Given the description of an element on the screen output the (x, y) to click on. 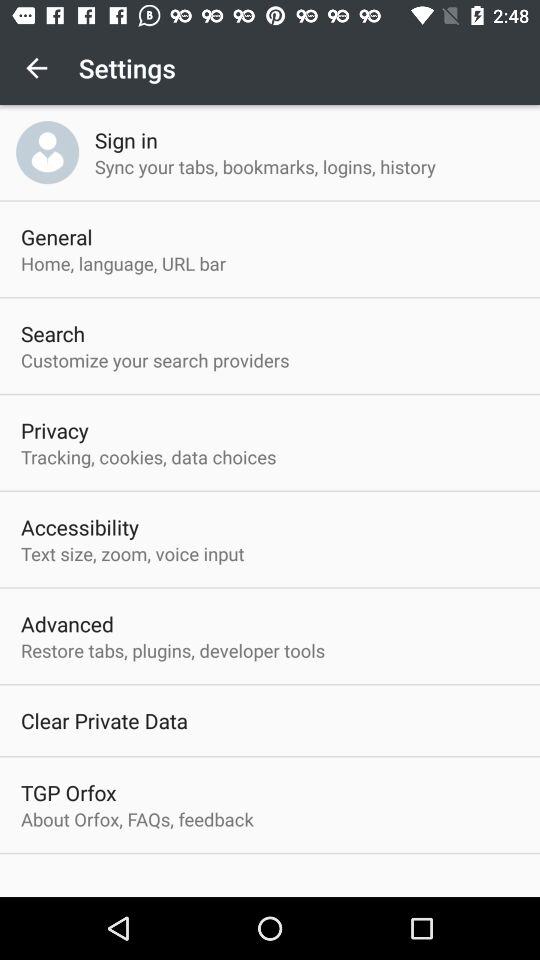
turn off app next to settings app (36, 68)
